Given the description of an element on the screen output the (x, y) to click on. 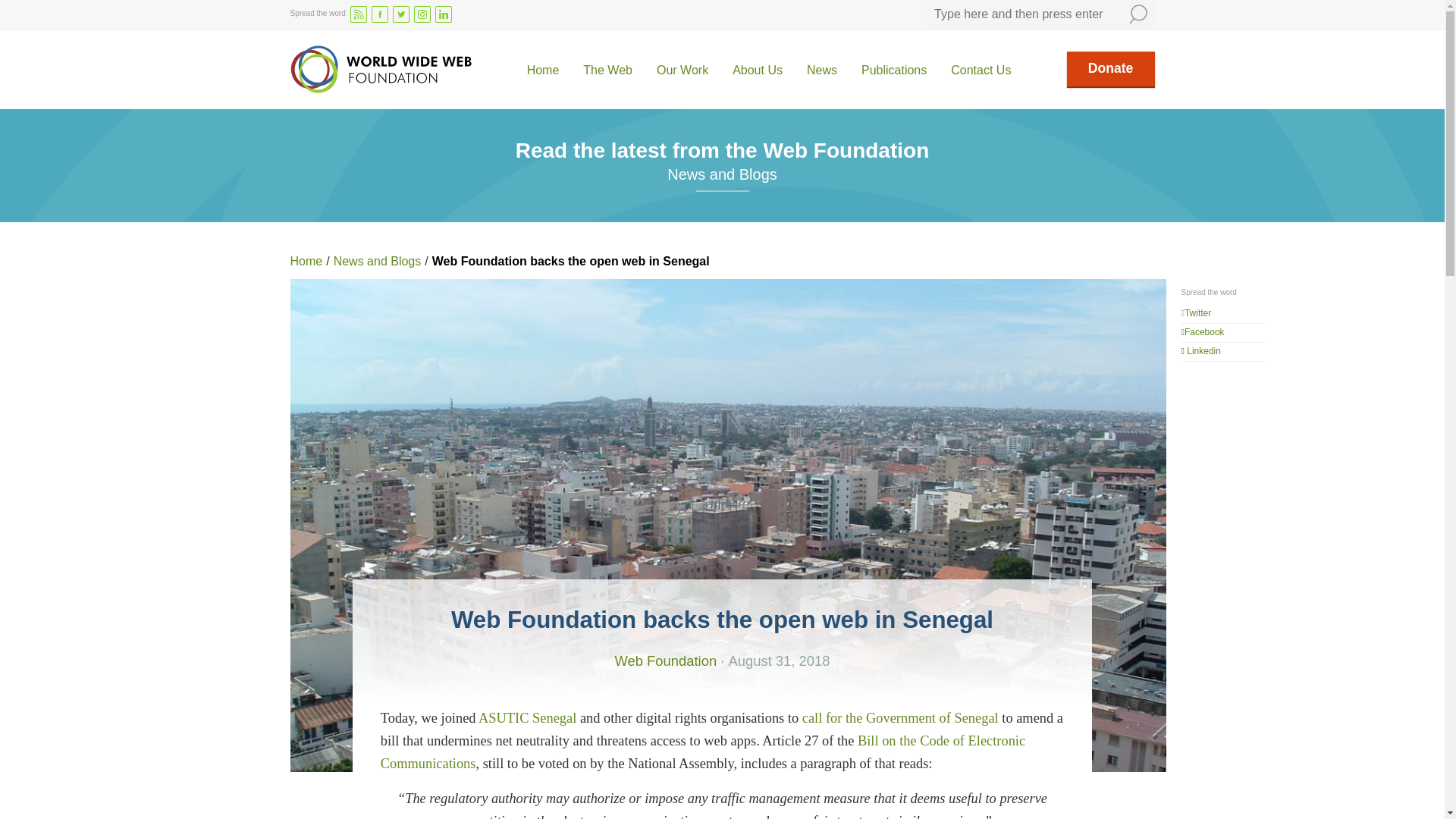
The Web (607, 70)
Home (543, 70)
Twitter (1198, 312)
News (821, 70)
Bill on the Code of Electronic Communications (702, 752)
instagram (421, 13)
Home (305, 260)
About Us (757, 70)
Linkedin (1203, 350)
News and Blogs (377, 260)
